Given the description of an element on the screen output the (x, y) to click on. 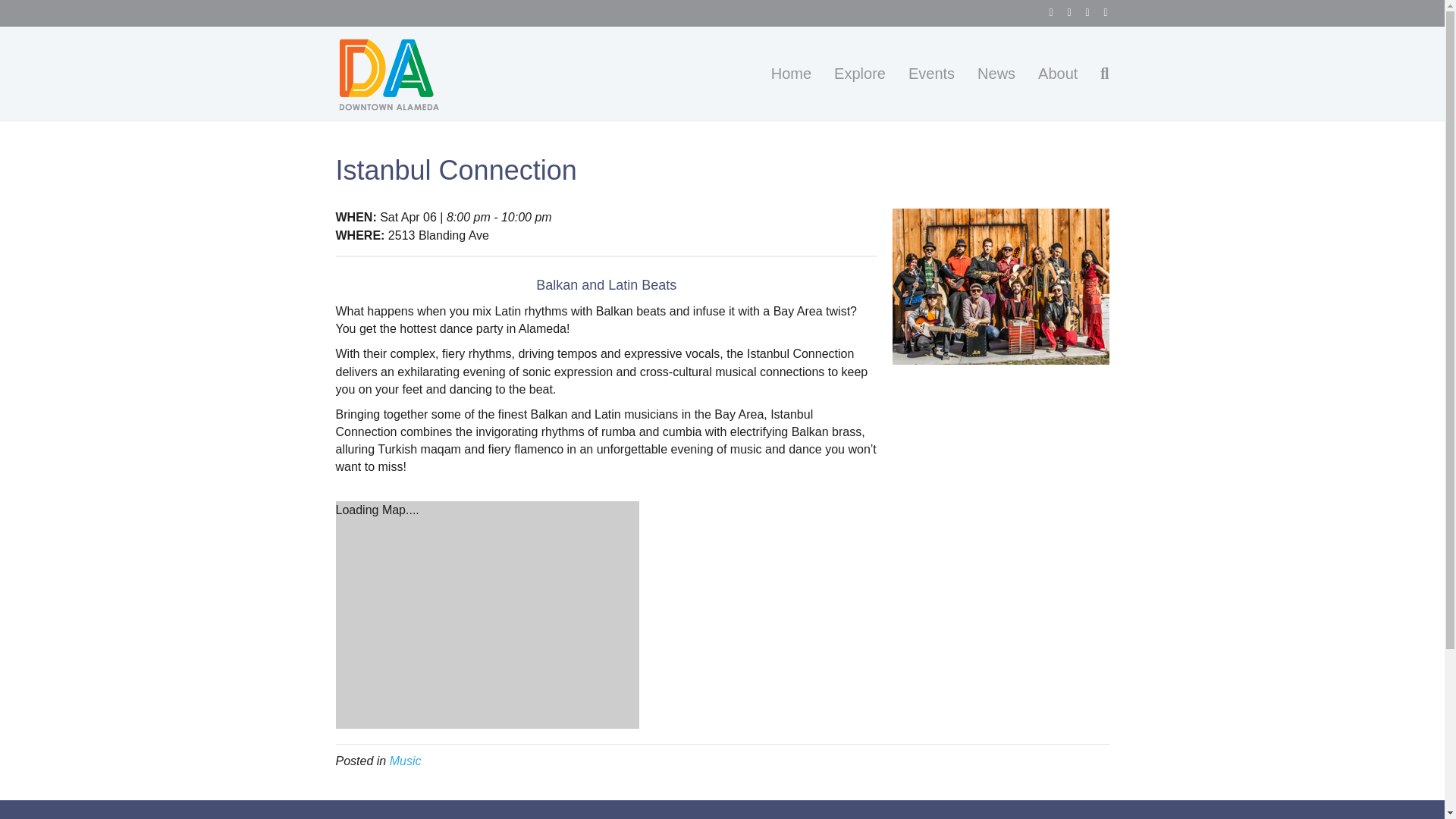
News (996, 73)
Events (931, 73)
Home (791, 73)
Twitter (1061, 11)
Facebook (1042, 11)
View all posts in Music (406, 760)
Instagram (1097, 11)
Pinterest (1079, 11)
About (1057, 73)
Explore (859, 73)
Music (406, 760)
